Given the description of an element on the screen output the (x, y) to click on. 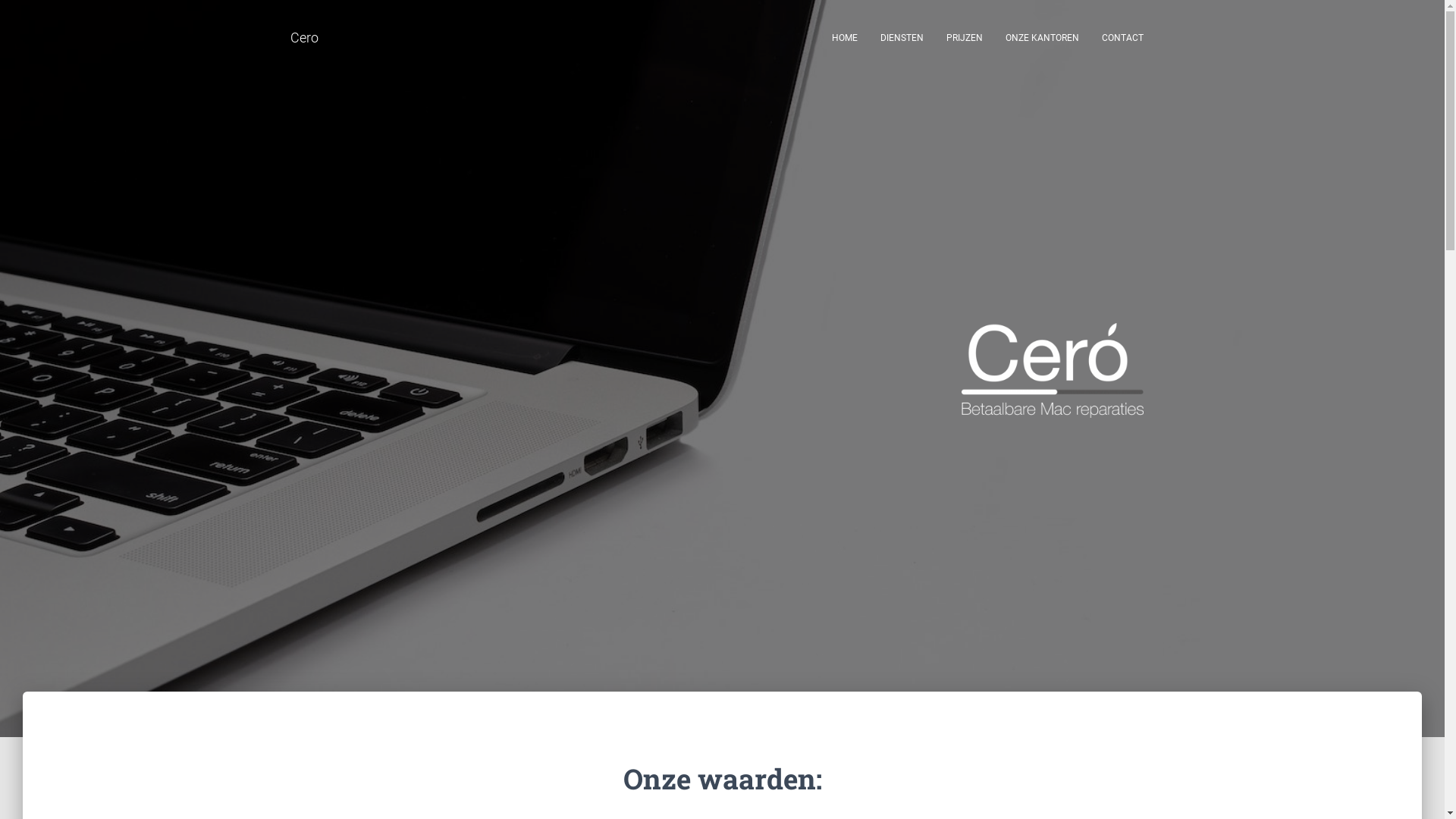
PRIJZEN Element type: text (963, 37)
DIENSTEN Element type: text (902, 37)
Cero Element type: text (304, 37)
HOME Element type: text (844, 37)
ONZE KANTOREN Element type: text (1041, 37)
CONTACT Element type: text (1122, 37)
